Given the description of an element on the screen output the (x, y) to click on. 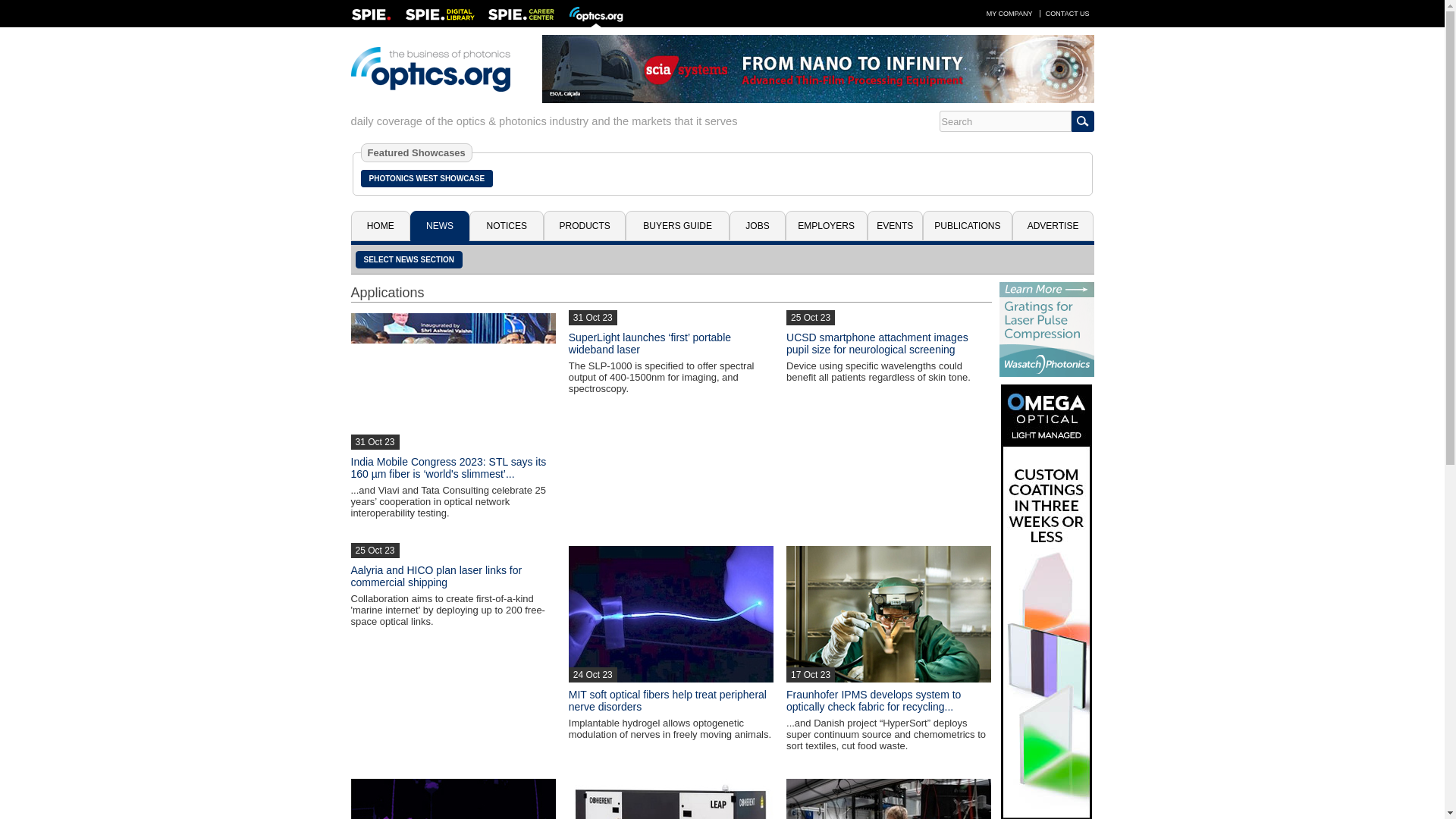
NEWS (439, 225)
MY COMPANY (1008, 13)
PHOTONICS WEST SHOWCASE (427, 178)
Search (1004, 120)
JOBS (757, 225)
CONTACT US (1067, 13)
HOME (379, 225)
BUYERS GUIDE (677, 225)
PRODUCTS (584, 225)
NOTICES (505, 225)
